Given the description of an element on the screen output the (x, y) to click on. 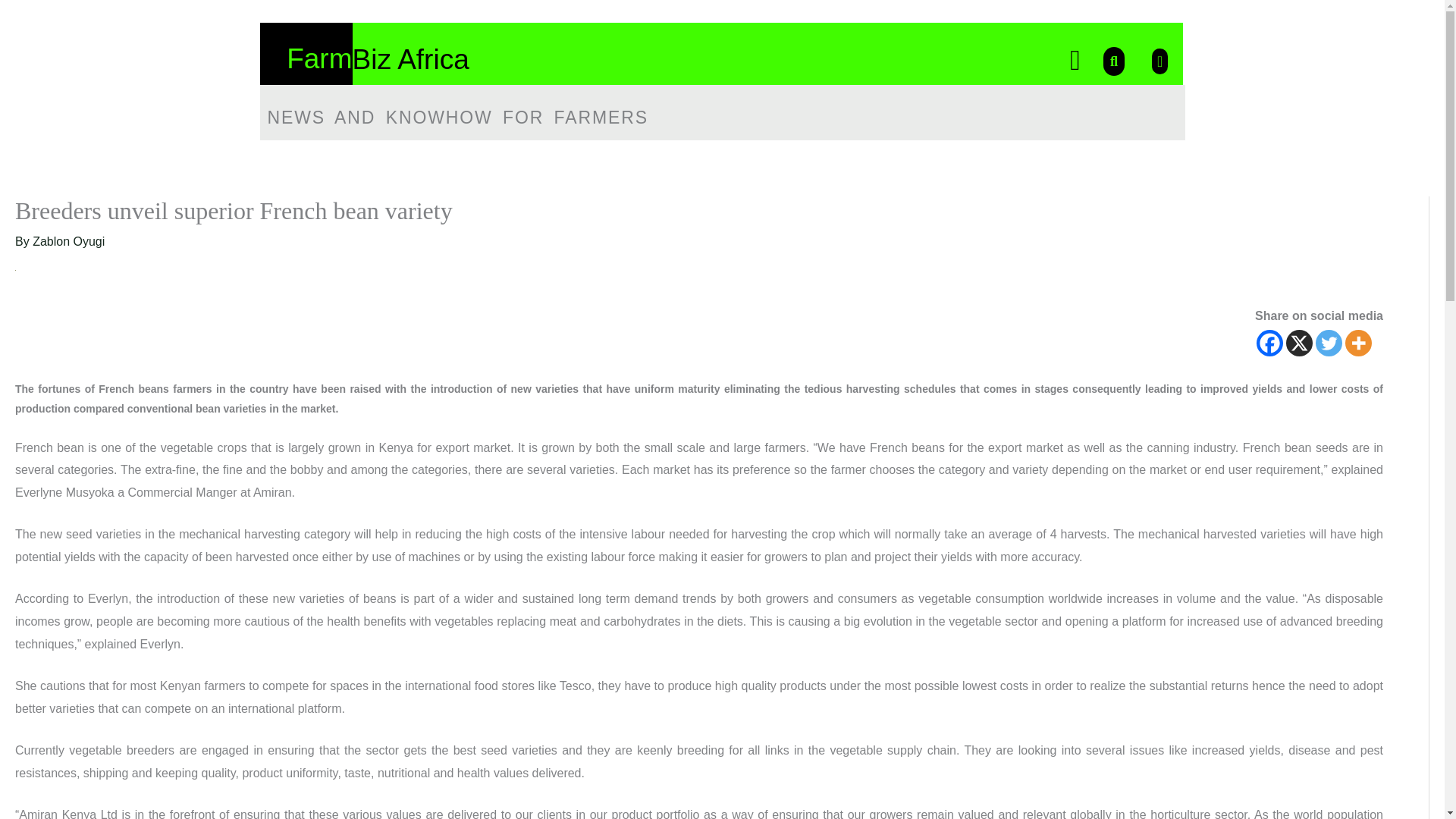
X (1299, 343)
Biz Africa (410, 59)
Farm (319, 58)
Facebook (1269, 343)
Twitter (1329, 343)
Zablon Oyugi (68, 241)
View all posts by Zablon Oyugi (68, 241)
More (1358, 343)
